Given the description of an element on the screen output the (x, y) to click on. 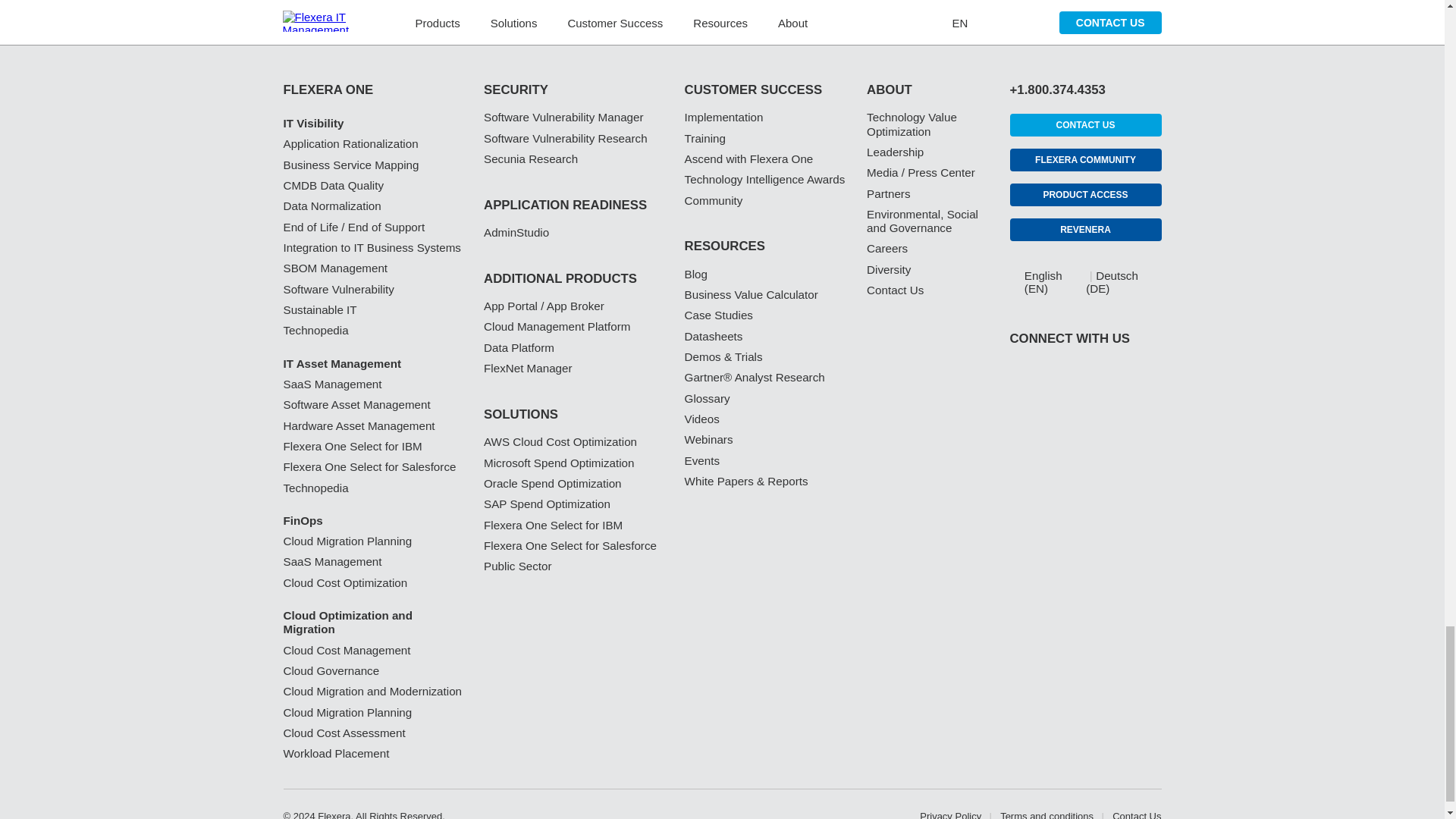
Twitter (1062, 413)
YouTube (1107, 413)
LinkedIn (1018, 413)
Instagram (1152, 413)
